Given the description of an element on the screen output the (x, y) to click on. 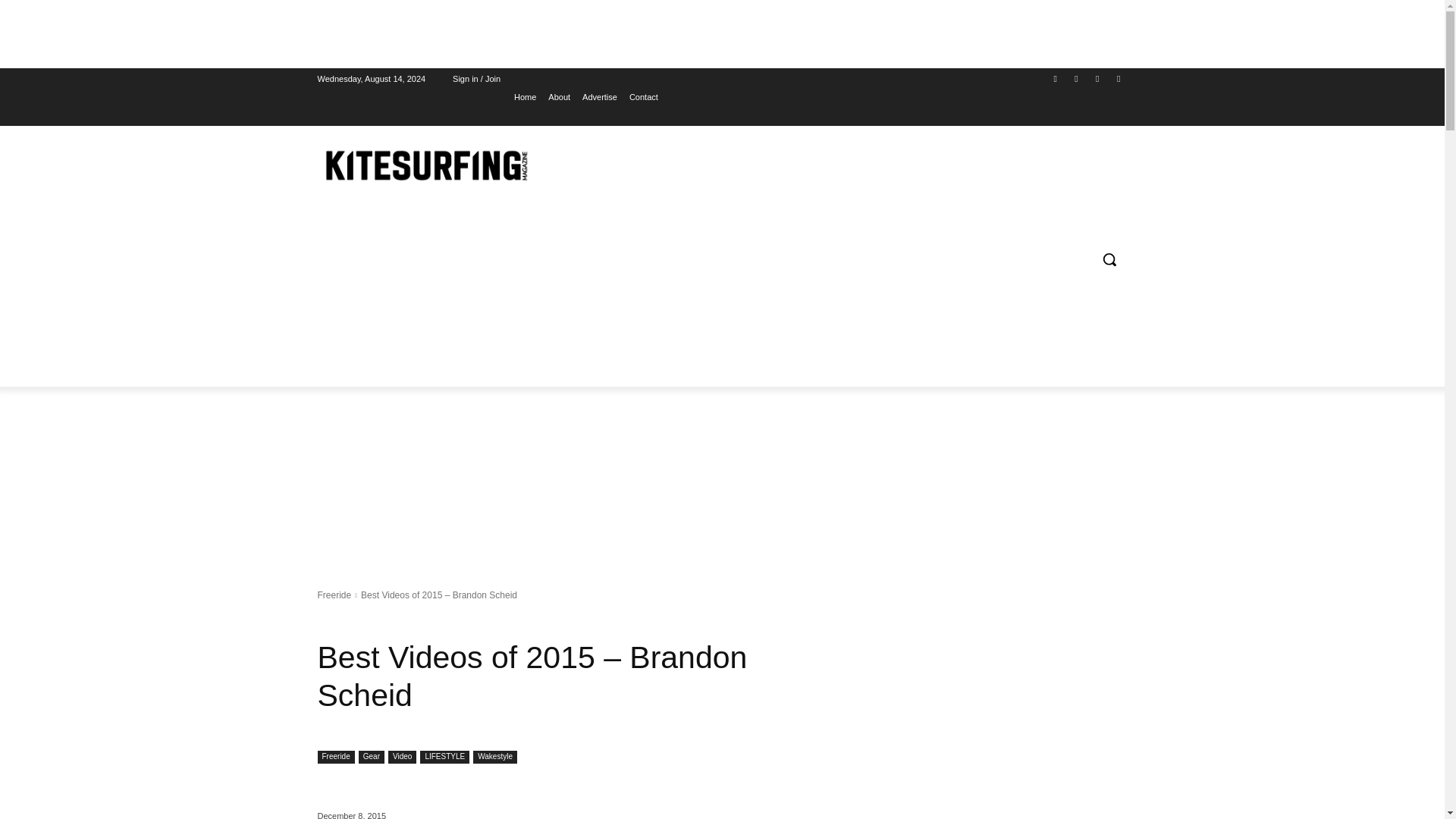
Youtube (1117, 77)
KITESURFING (425, 165)
Instagram (1075, 77)
KITESURFING (426, 165)
Facebook (1055, 77)
Twitter (1097, 77)
